Given the description of an element on the screen output the (x, y) to click on. 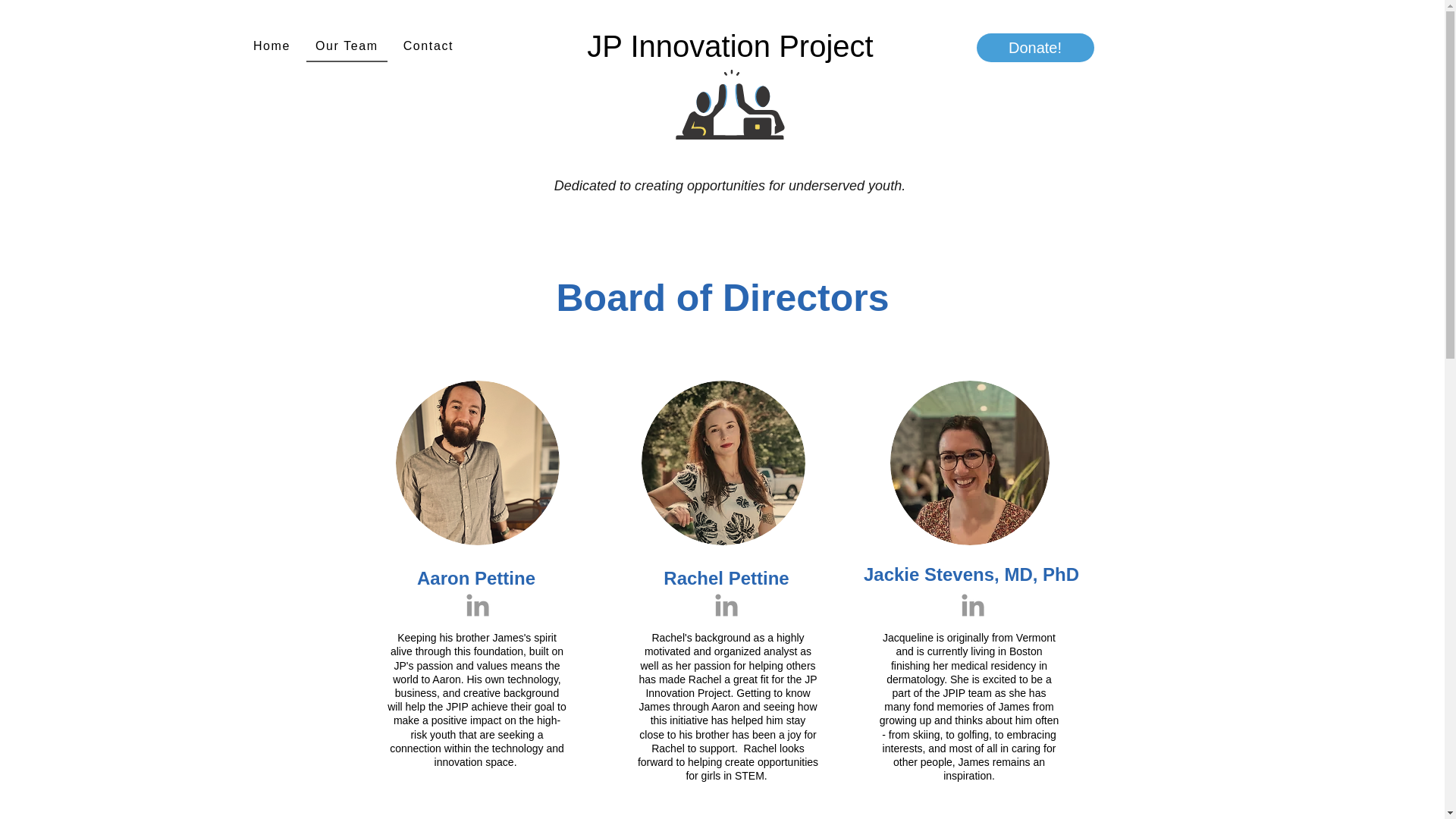
guy4.jpg (723, 462)
Our Team (346, 46)
Home (271, 46)
guy2.jpg (477, 462)
Contact (428, 46)
Donate! (1035, 47)
JP Innovation Project (729, 46)
guy3.jpg (969, 462)
